Given the description of an element on the screen output the (x, y) to click on. 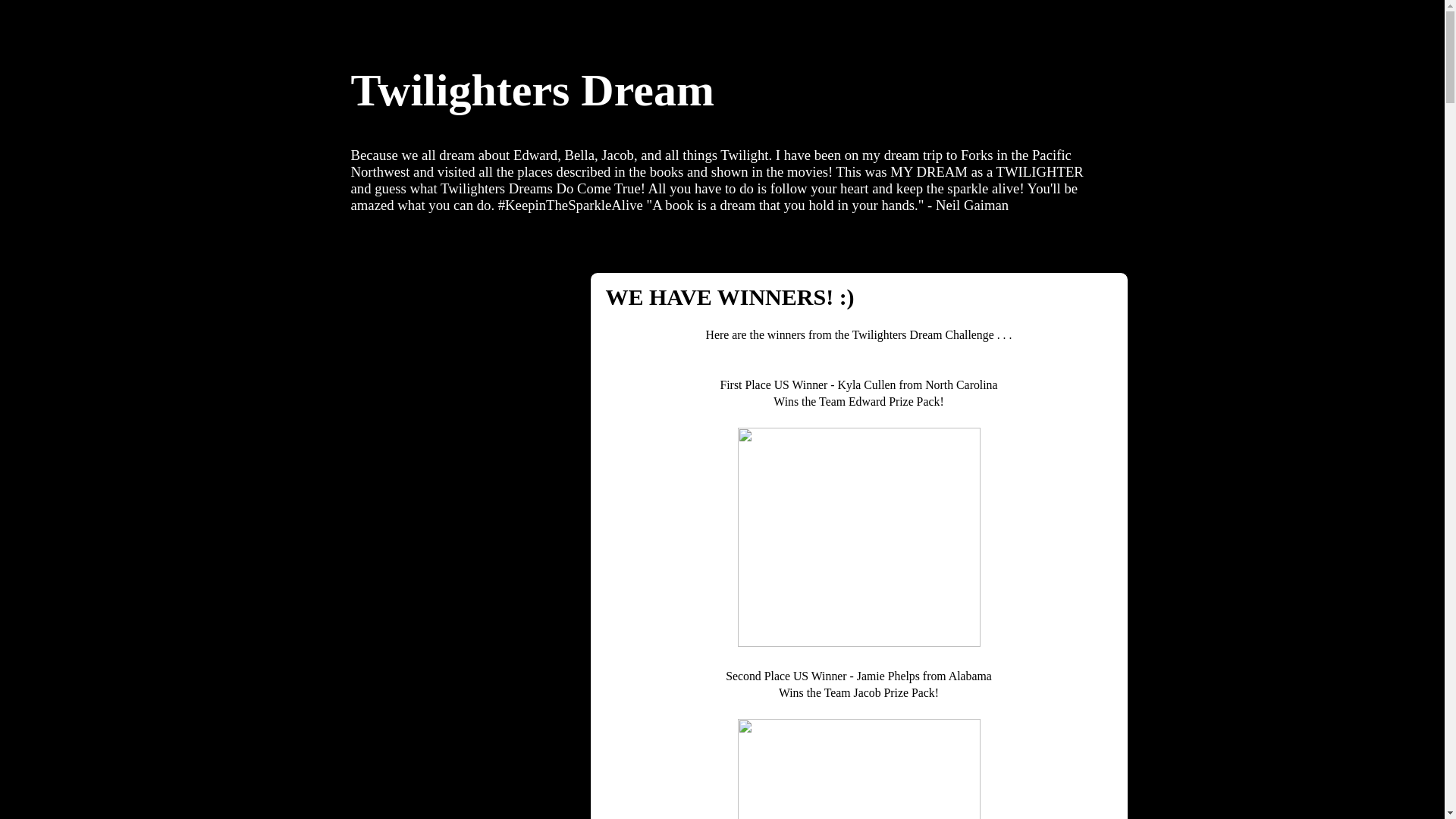
Twilighters Dream (531, 90)
